Given the description of an element on the screen output the (x, y) to click on. 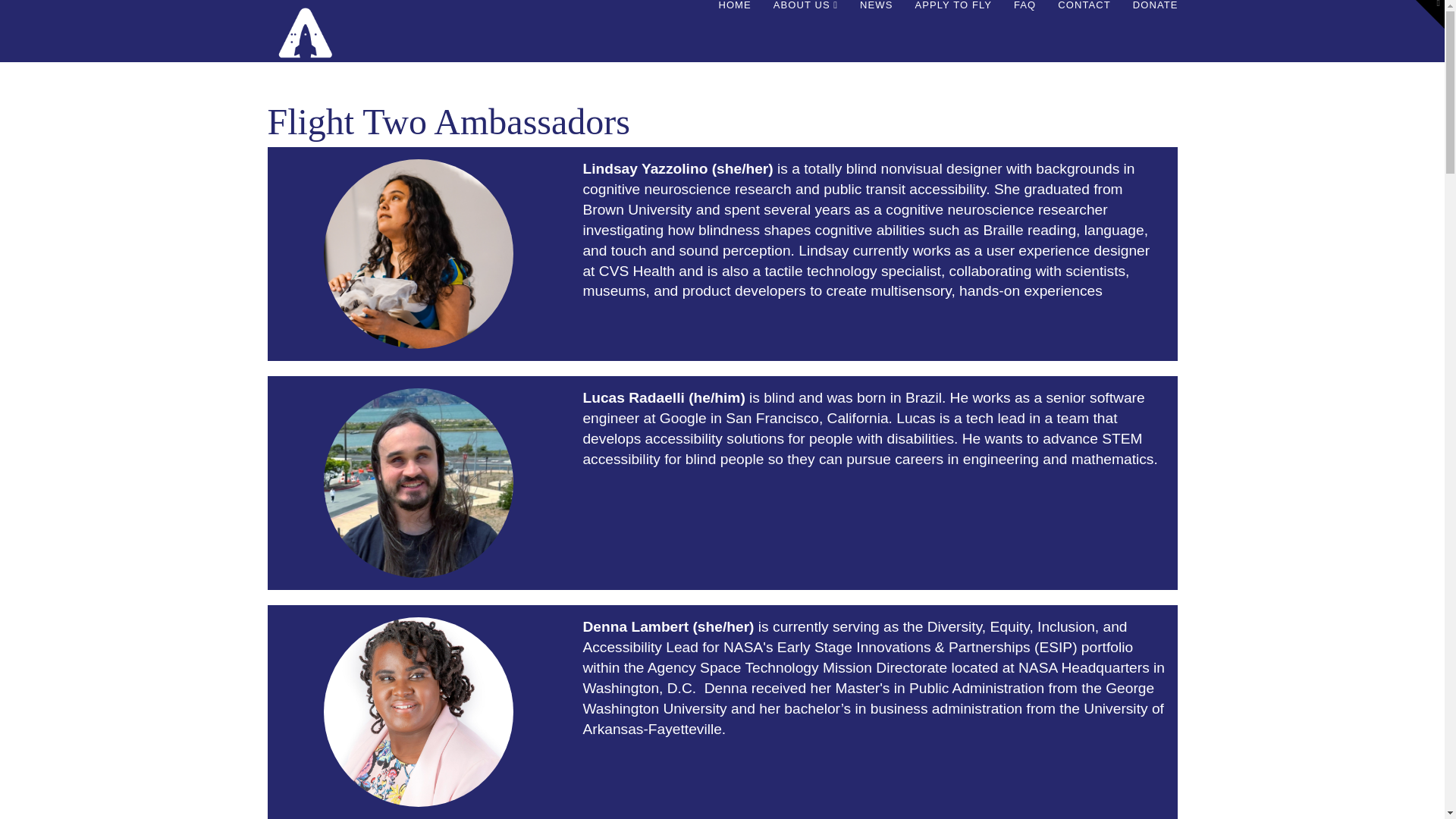
CONTACT (1083, 41)
ABOUT US (804, 41)
APPLY TO FLY (952, 41)
